Given the description of an element on the screen output the (x, y) to click on. 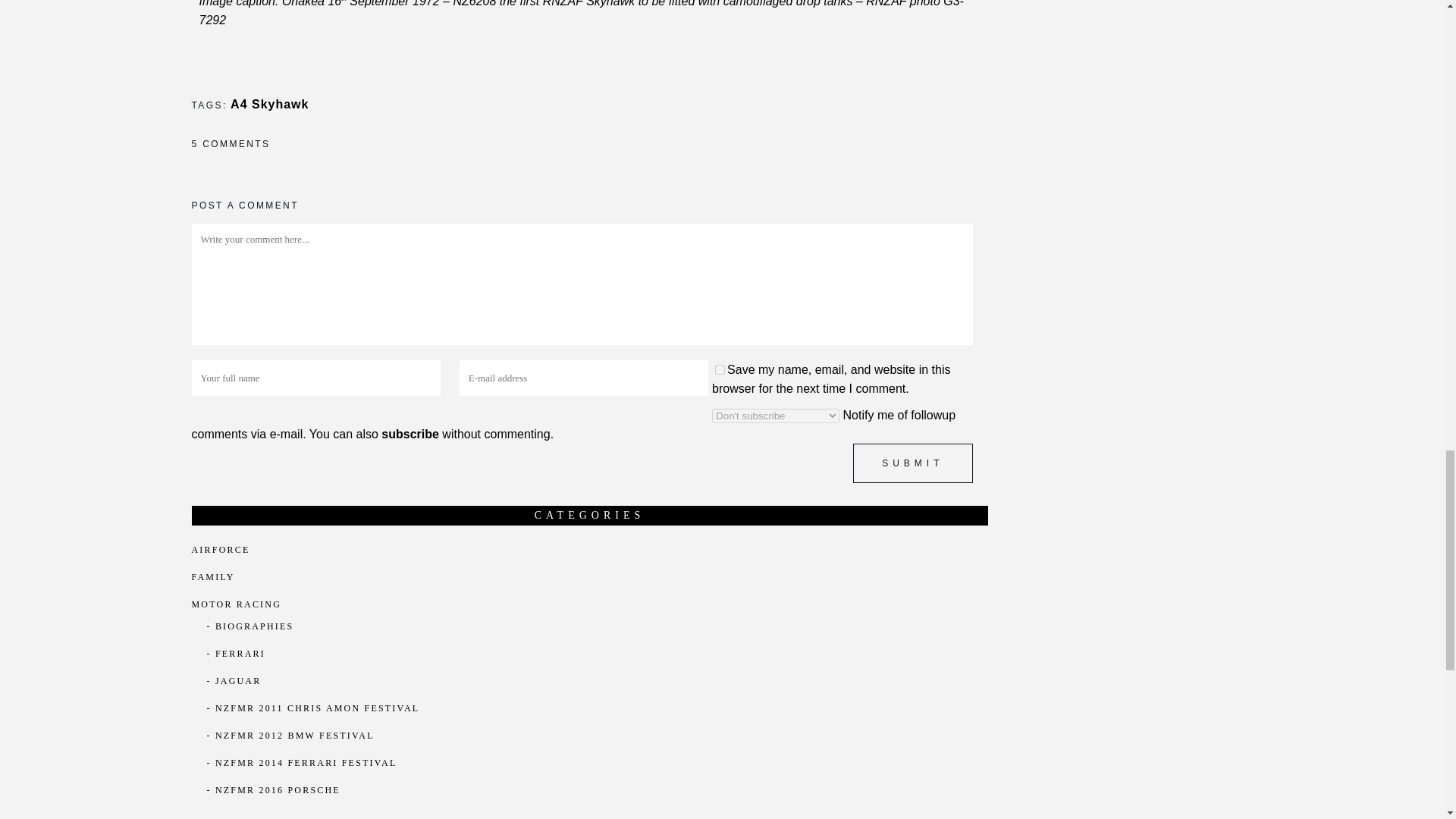
AIRFORCE (219, 549)
NZFMR 2011 CHRIS AMON FESTIVAL (317, 707)
MOTOR RACING (235, 603)
FAMILY (212, 576)
Submit (912, 463)
A4 Skyhawk (269, 103)
BIOGRAPHIES (254, 625)
Submit (912, 463)
yes (719, 369)
NZFMR 2012 BMW FESTIVAL (294, 735)
subscribe (410, 433)
NZFMR 2016 PORSCHE (277, 789)
NZFMR 2014 FERRARI FESTIVAL (306, 762)
FERRARI (239, 653)
JAGUAR (238, 680)
